Given the description of an element on the screen output the (x, y) to click on. 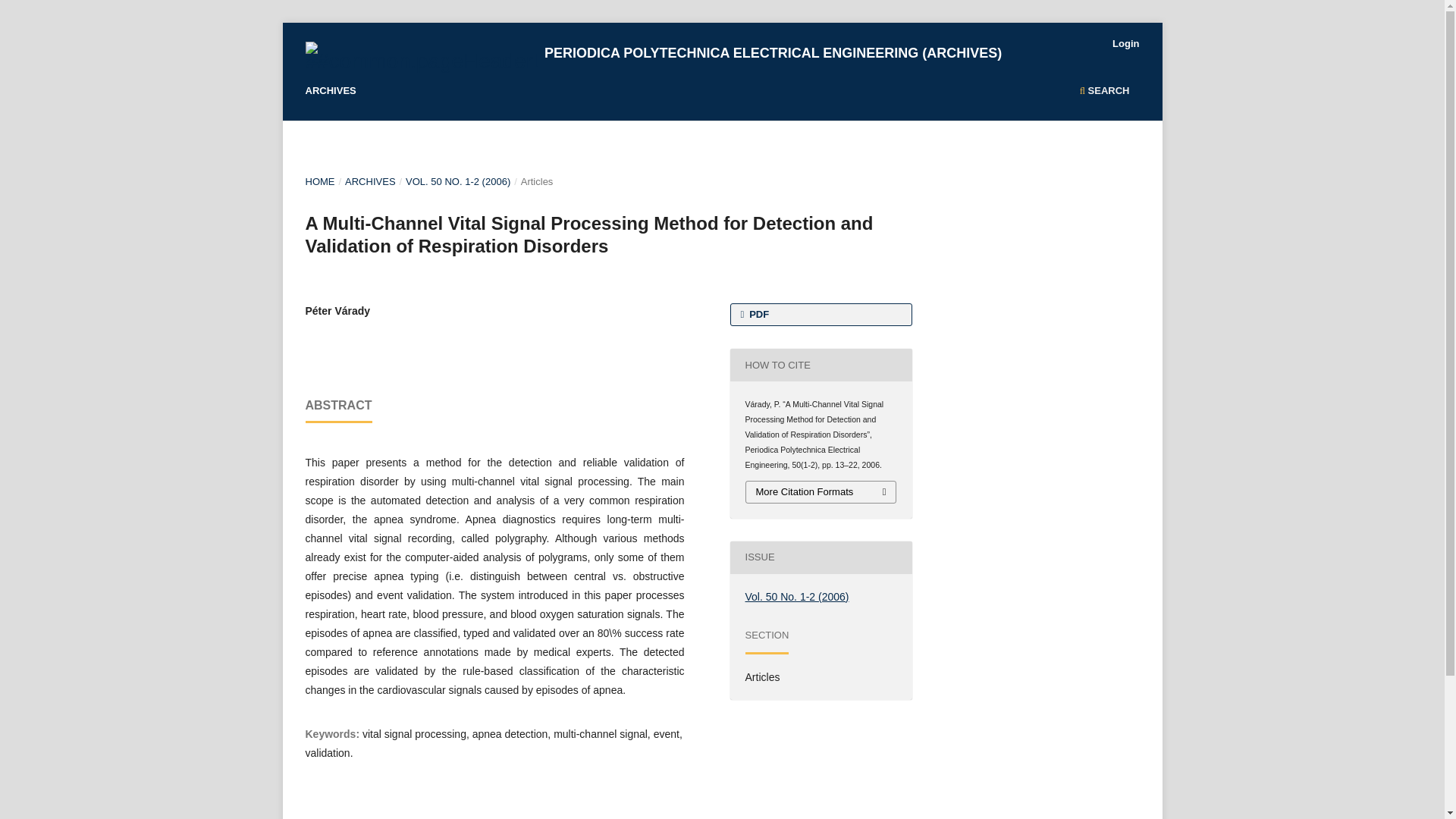
HOME (319, 181)
ARCHIVES (330, 92)
More Citation Formats (820, 491)
Login (1126, 43)
ARCHIVES (370, 181)
SEARCH (1104, 92)
PDF (820, 314)
